Given the description of an element on the screen output the (x, y) to click on. 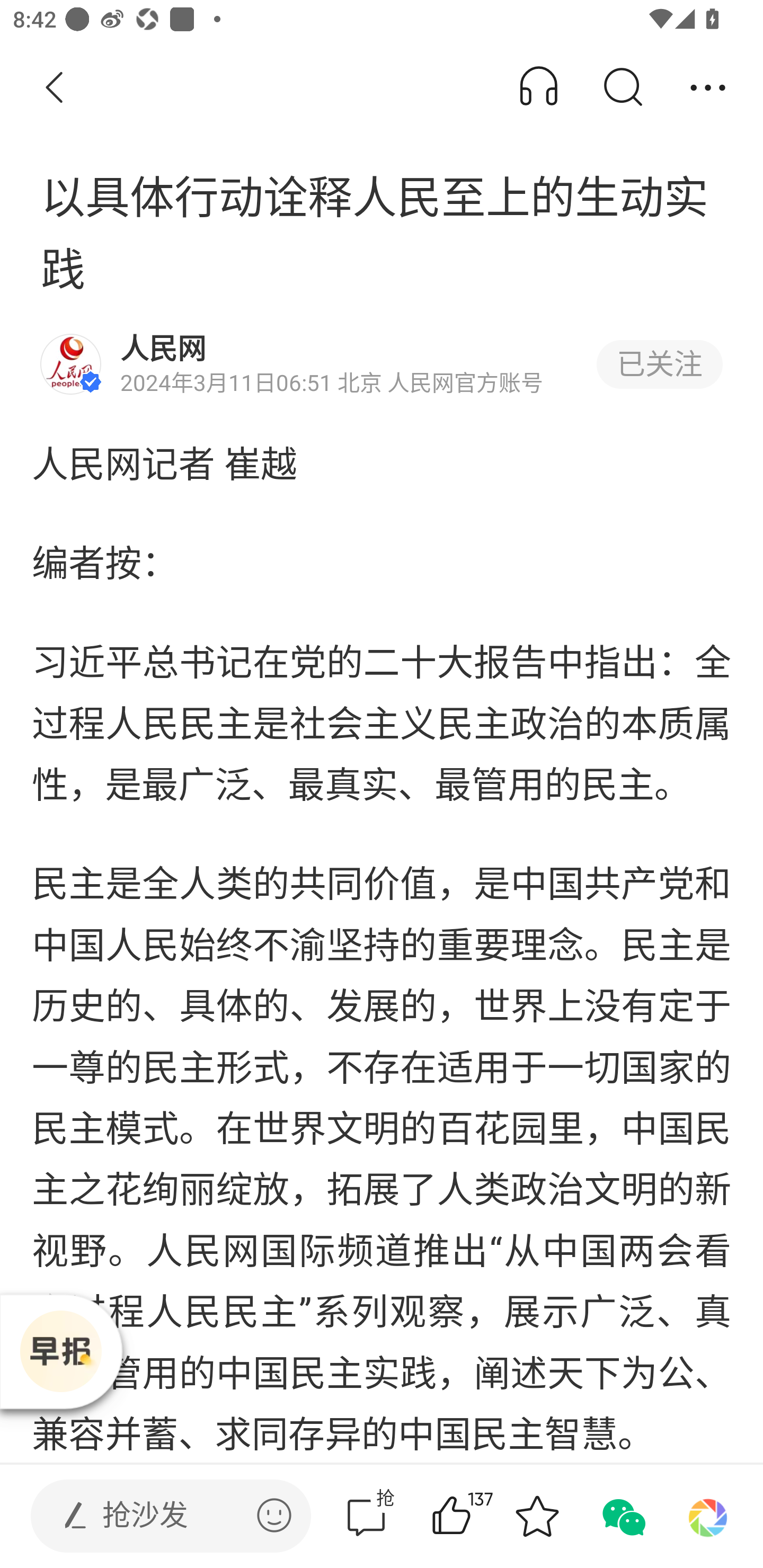
搜索  (622, 87)
分享  (707, 87)
 返回 (54, 87)
人民网 2024年3月11日06:51 北京 人民网官方账号 已关注 (381, 364)
已关注 (659, 364)
播放器 (60, 1351)
发表评论  抢沙发 发表评论  (155, 1516)
抢评论  抢 评论 (365, 1516)
137赞 (476, 1516)
收藏  (536, 1516)
分享到微信  (622, 1516)
分享到朋友圈 (707, 1516)
 (274, 1515)
